Given the description of an element on the screen output the (x, y) to click on. 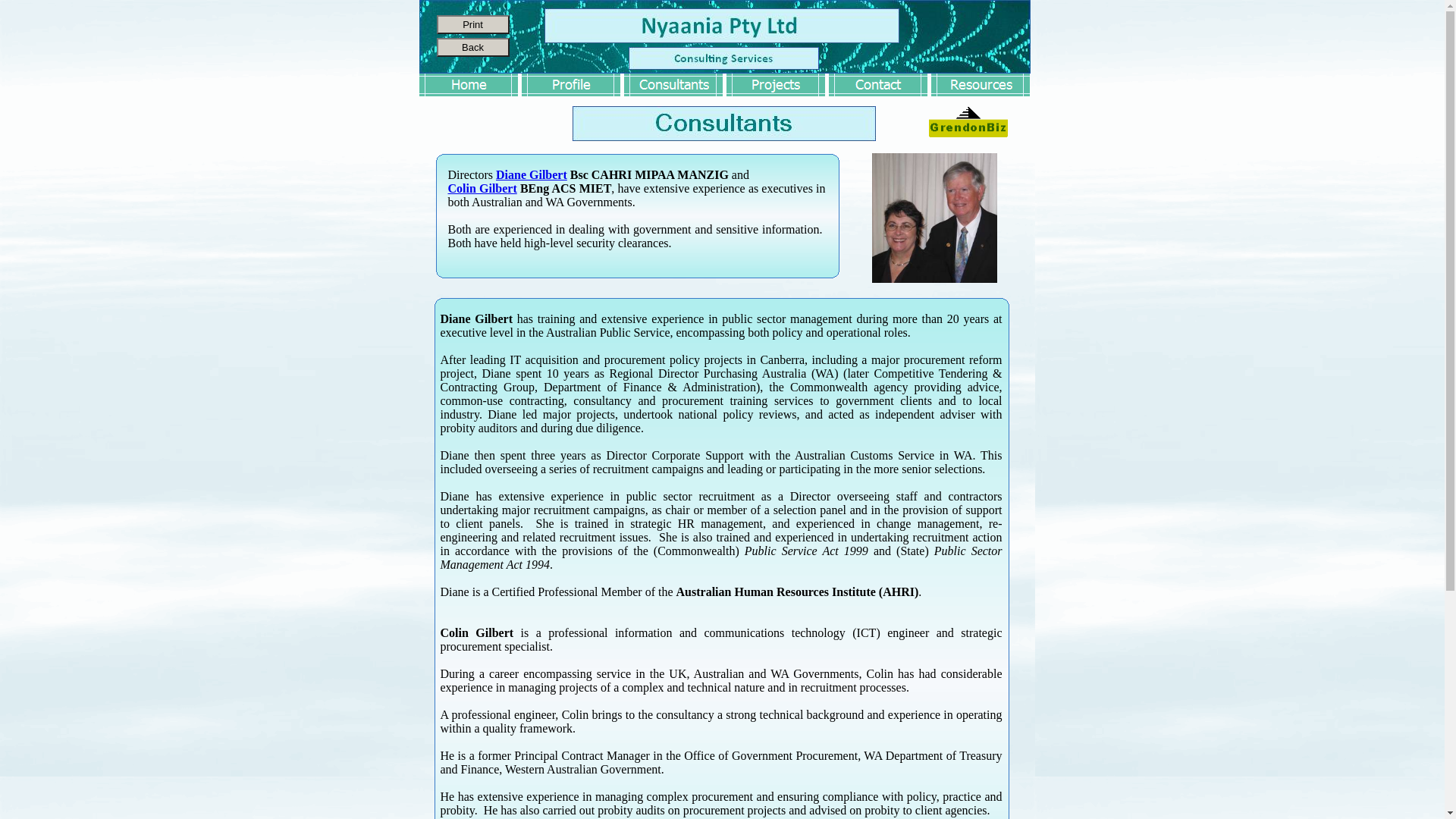
Contact Element type: hover (877, 84)
Back Element type: text (472, 46)
  Element type: text (419, 653)
Resources Element type: hover (980, 84)
Projects Element type: hover (775, 84)
Colin Gilbert Element type: text (481, 188)
  Element type: text (419, 319)
Print Element type: text (472, 24)
Home Element type: hover (467, 84)
Consultants Element type: hover (672, 84)
Diane Gilbert Element type: text (531, 174)
Profile Element type: hover (571, 84)
